Given the description of an element on the screen output the (x, y) to click on. 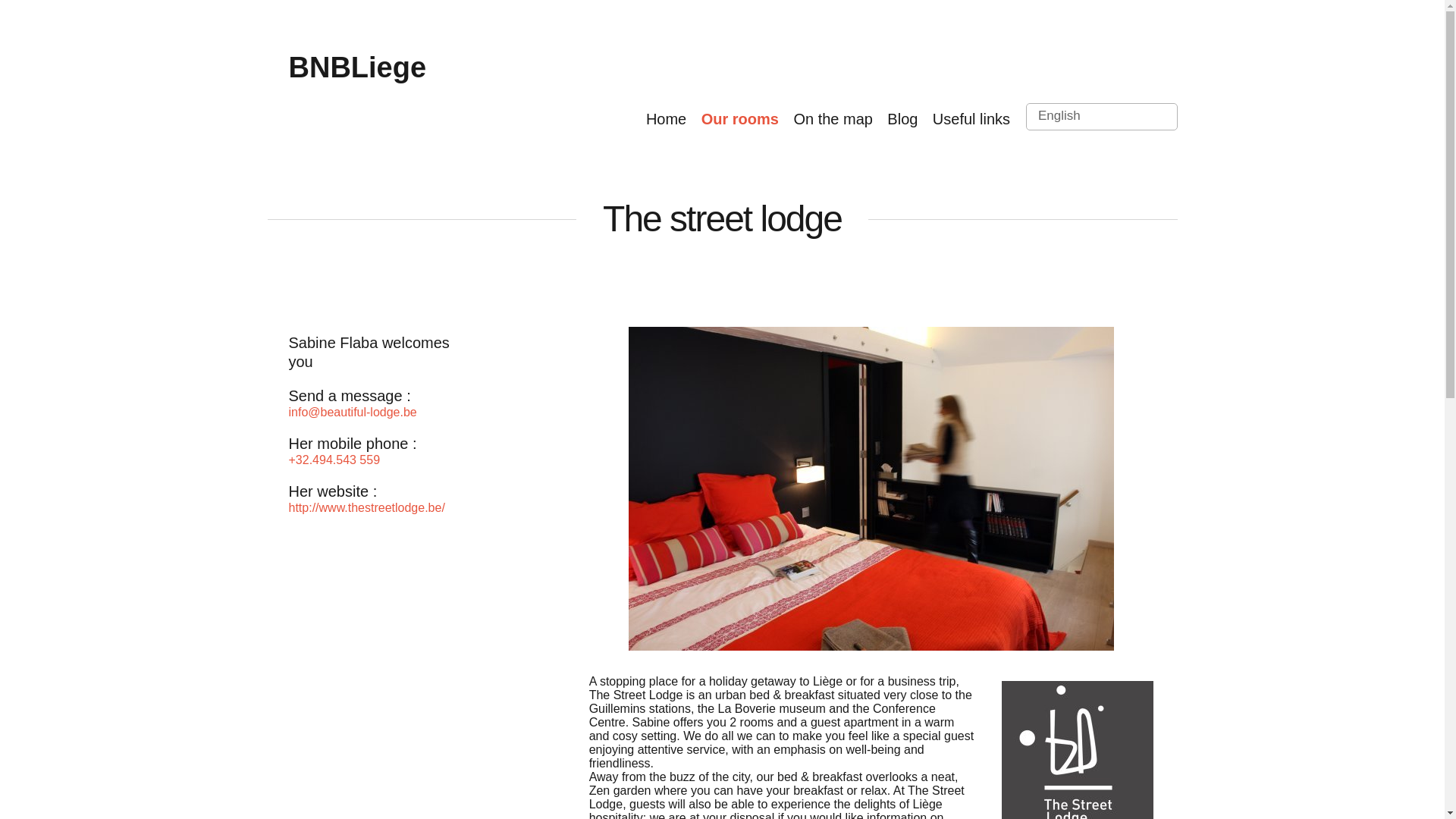
Our rooms (739, 118)
Useful links (971, 118)
On the map (832, 118)
Home (665, 118)
Blog (901, 118)
BNBLiege (357, 67)
English (1101, 116)
